Given the description of an element on the screen output the (x, y) to click on. 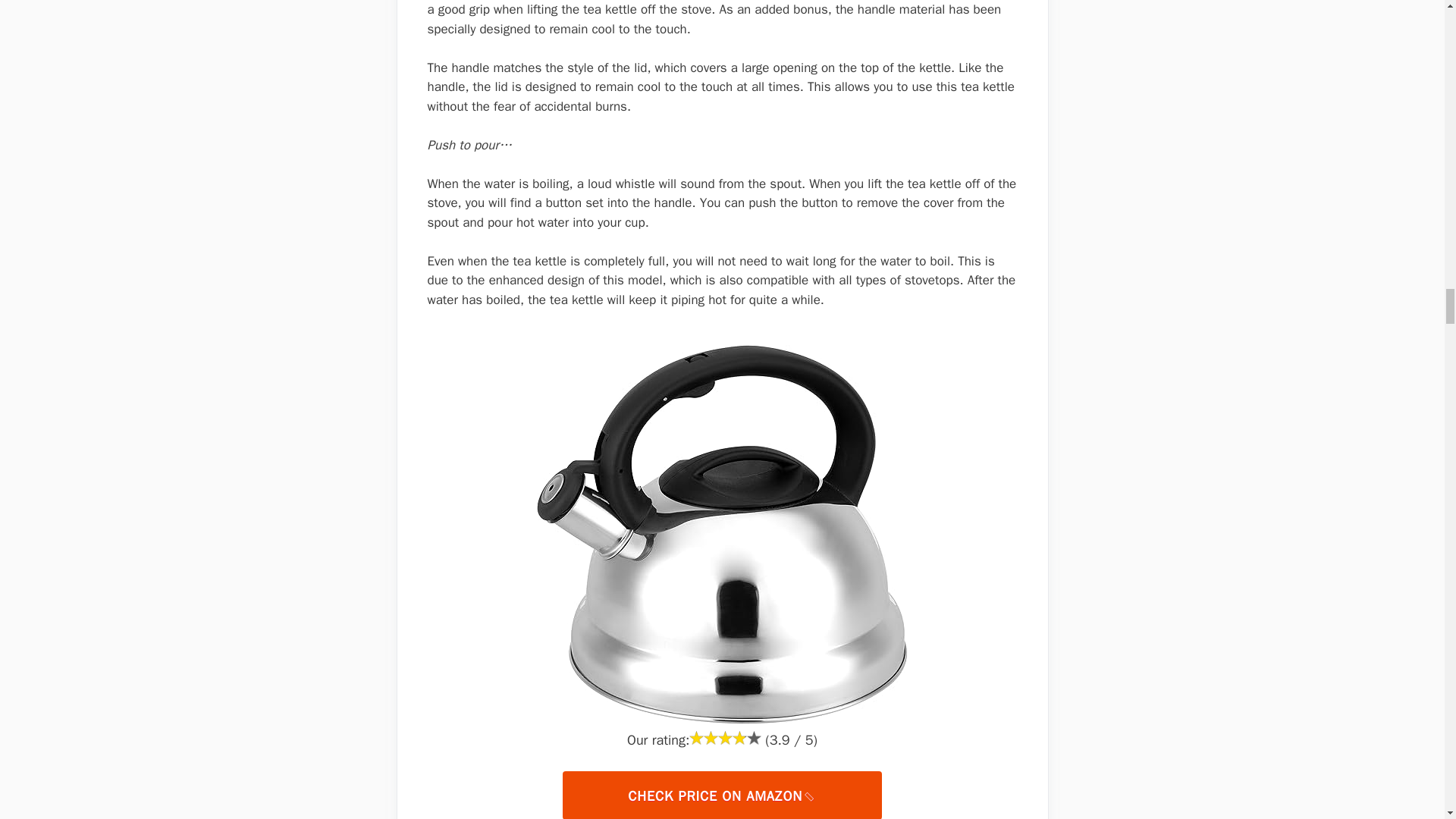
CHECK PRICE ON AMAZON (721, 795)
